Given the description of an element on the screen output the (x, y) to click on. 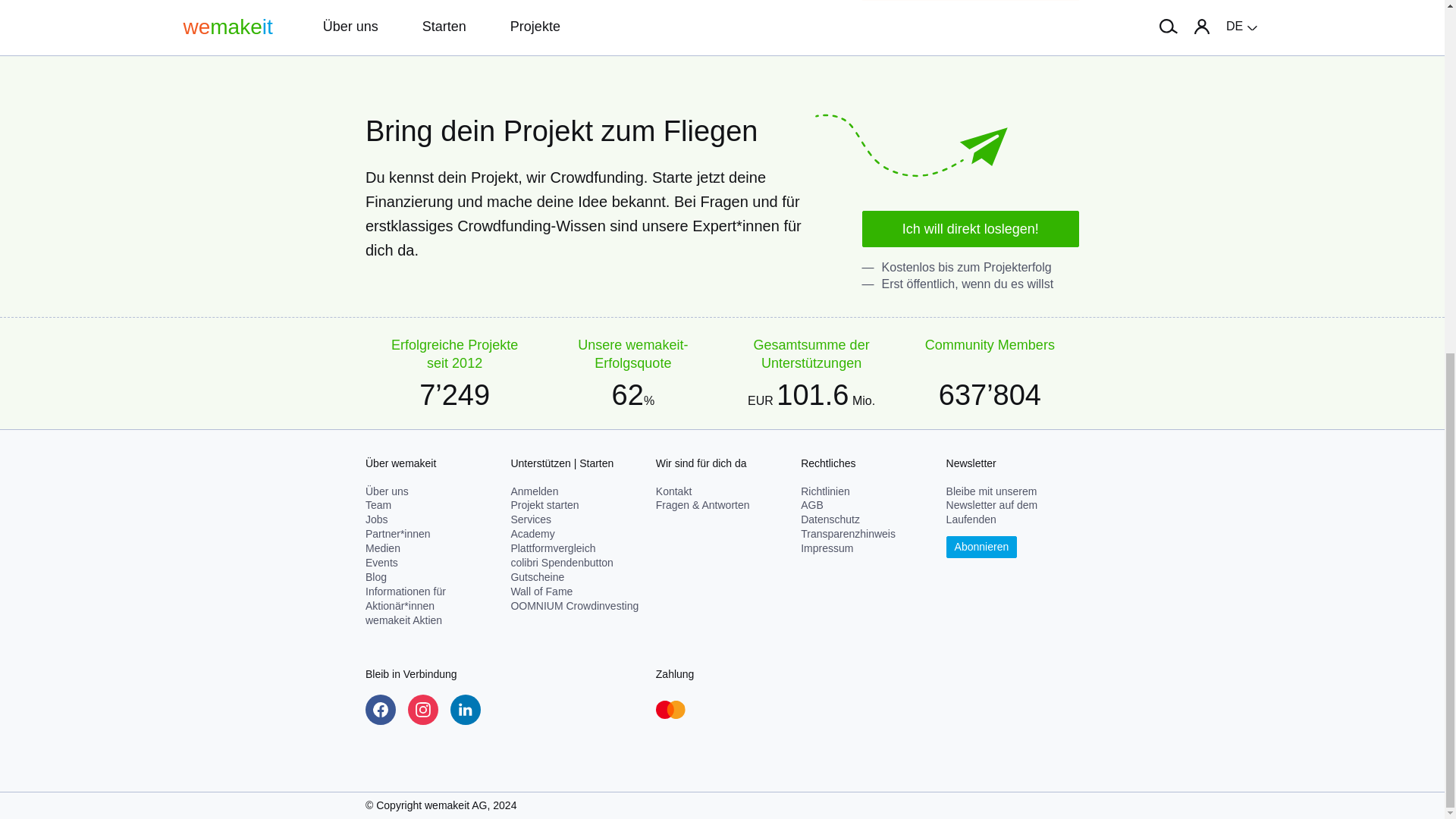
Jobs (376, 519)
Events (381, 562)
Academy (532, 533)
Anmelden (534, 491)
Projekt starten (544, 504)
Medien (382, 548)
Team (378, 504)
Blog (376, 576)
wemakeit Aktien (403, 620)
Ich will direkt loslegen! (969, 228)
